Given the description of an element on the screen output the (x, y) to click on. 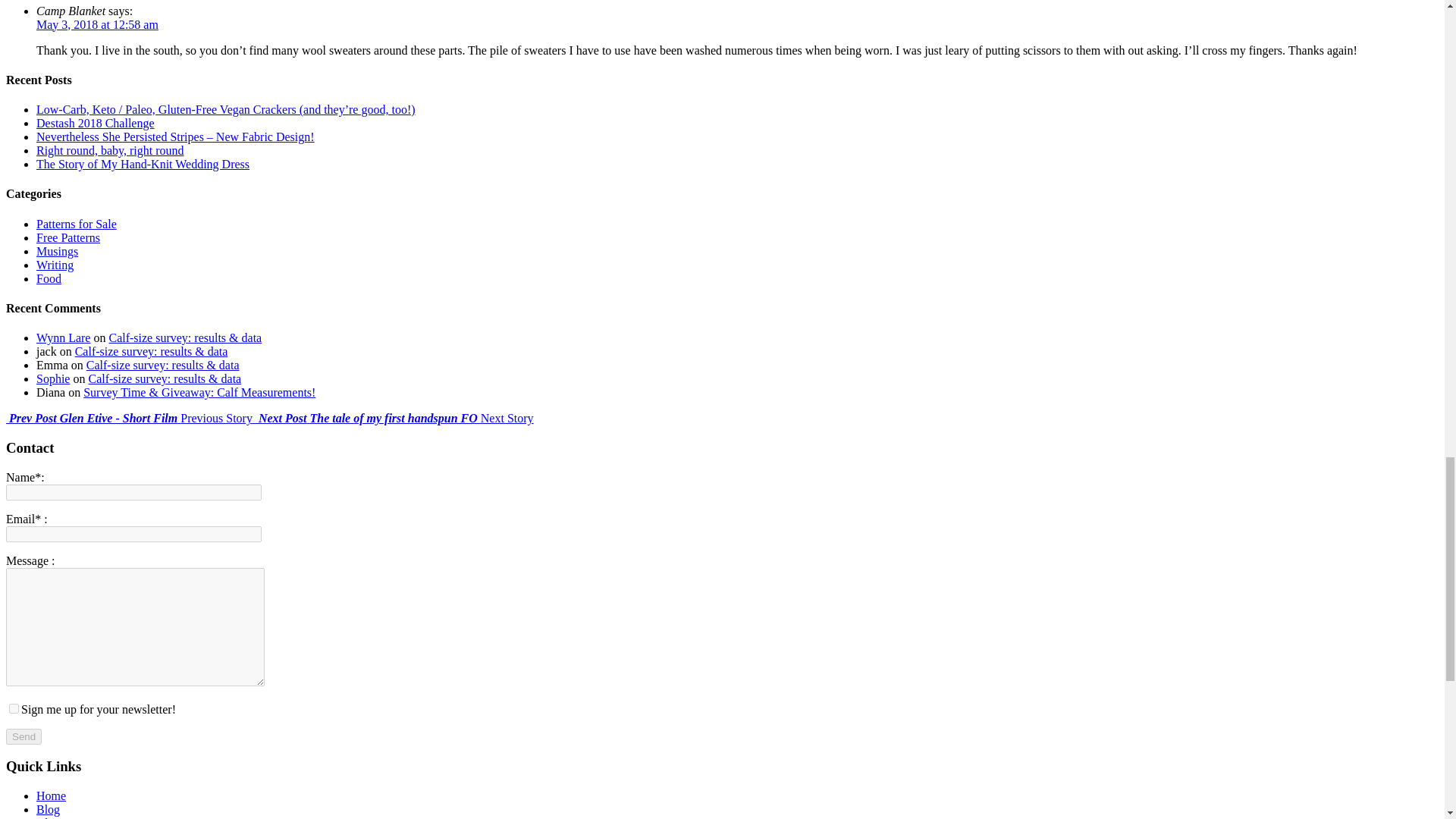
Sign me up for your newsletter! (13, 708)
Send (23, 736)
